Given the description of an element on the screen output the (x, y) to click on. 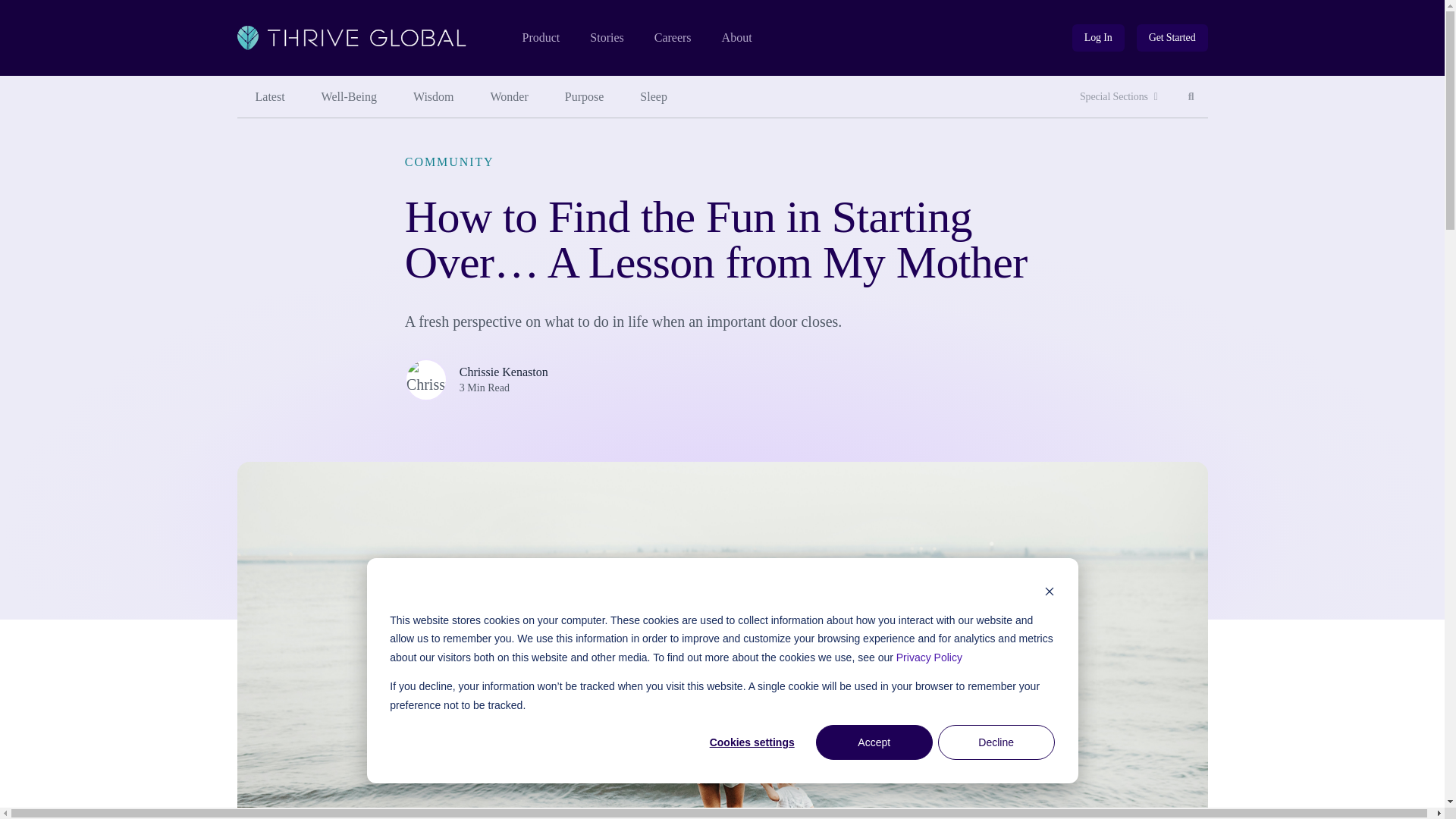
Wisdom (432, 96)
Well-Being (348, 96)
Log In (1097, 37)
Special Sections (1118, 97)
Latest (268, 96)
btn-primary (1172, 37)
Sleep (653, 96)
About (737, 37)
Product (1191, 97)
Careers (540, 37)
Get Started (672, 37)
Purpose (1172, 37)
btn-info (585, 96)
Wonder (1097, 37)
